Given the description of an element on the screen output the (x, y) to click on. 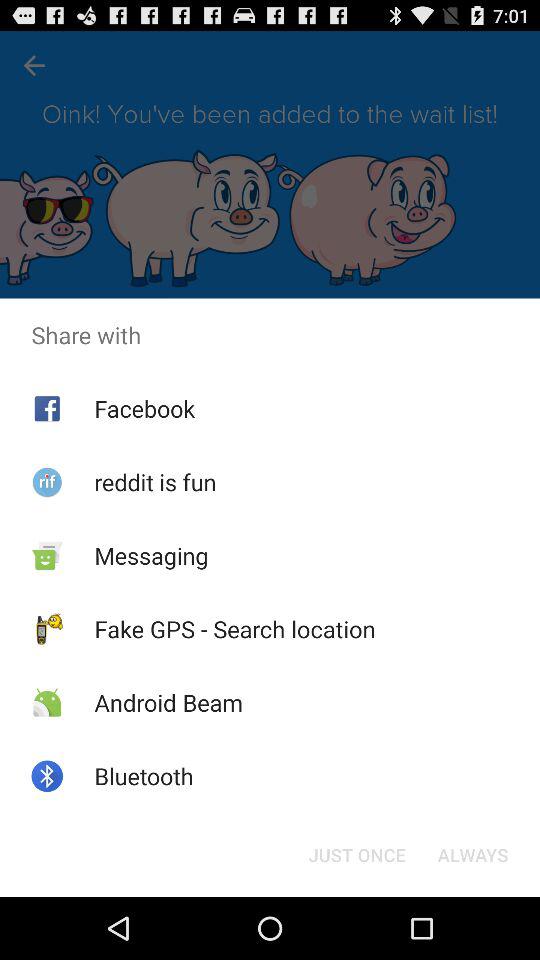
open app below share with app (144, 408)
